Given the description of an element on the screen output the (x, y) to click on. 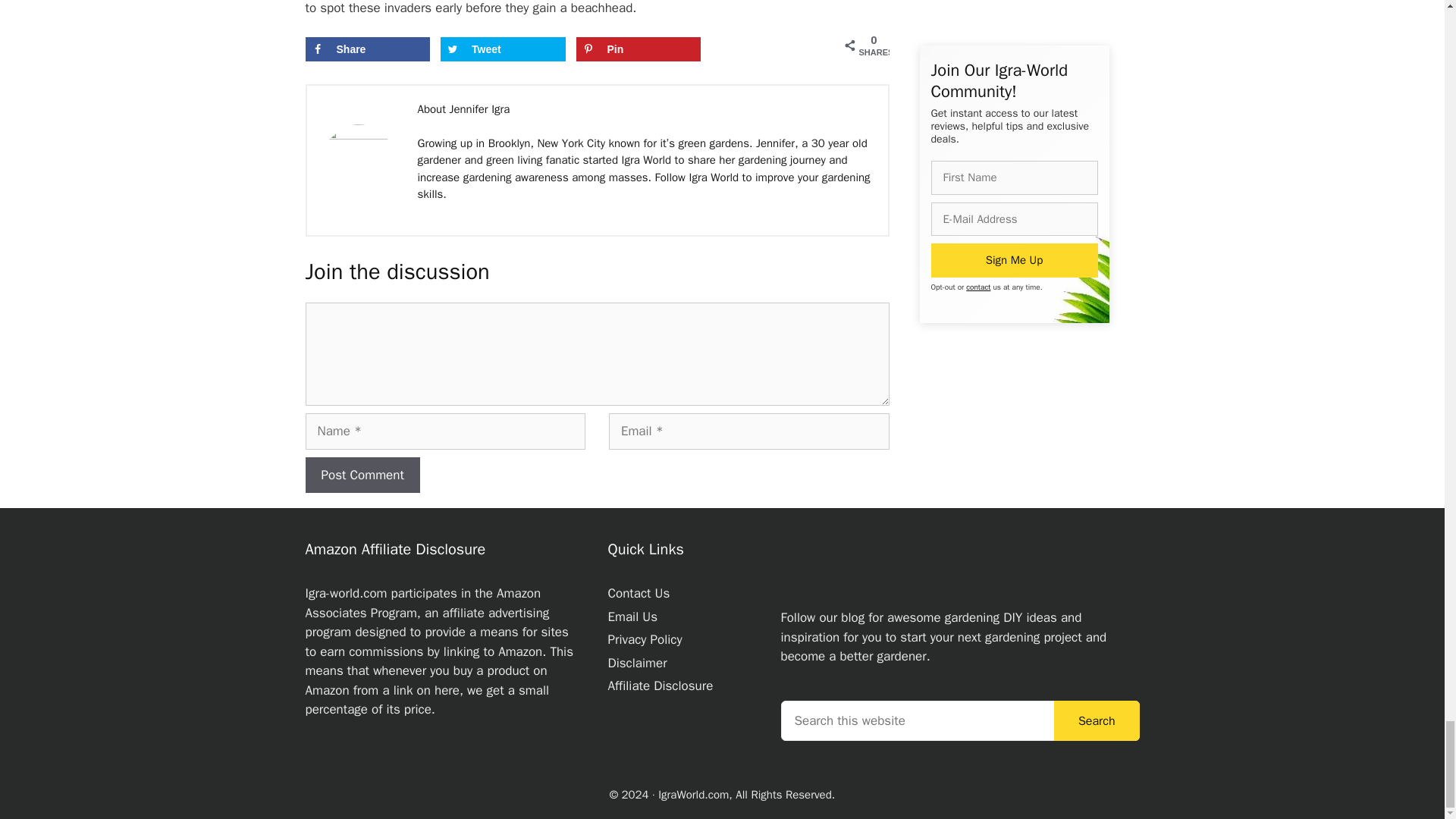
Search (1097, 721)
Post Comment (361, 475)
Search (1097, 721)
